Given the description of an element on the screen output the (x, y) to click on. 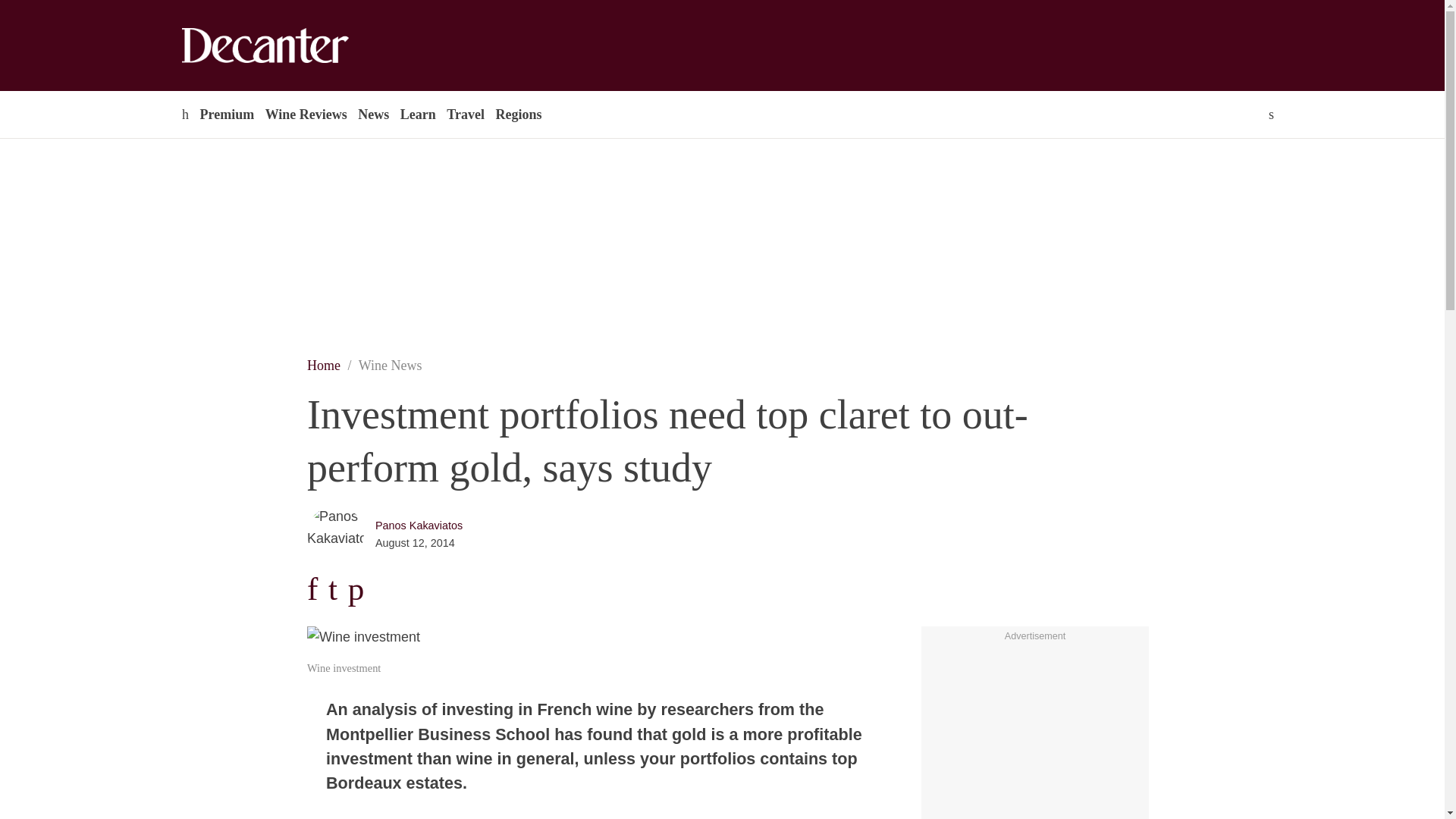
Learn (417, 114)
Travel (464, 114)
Wine Reviews (306, 114)
Premium (226, 114)
Decanter (297, 45)
